Given the description of an element on the screen output the (x, y) to click on. 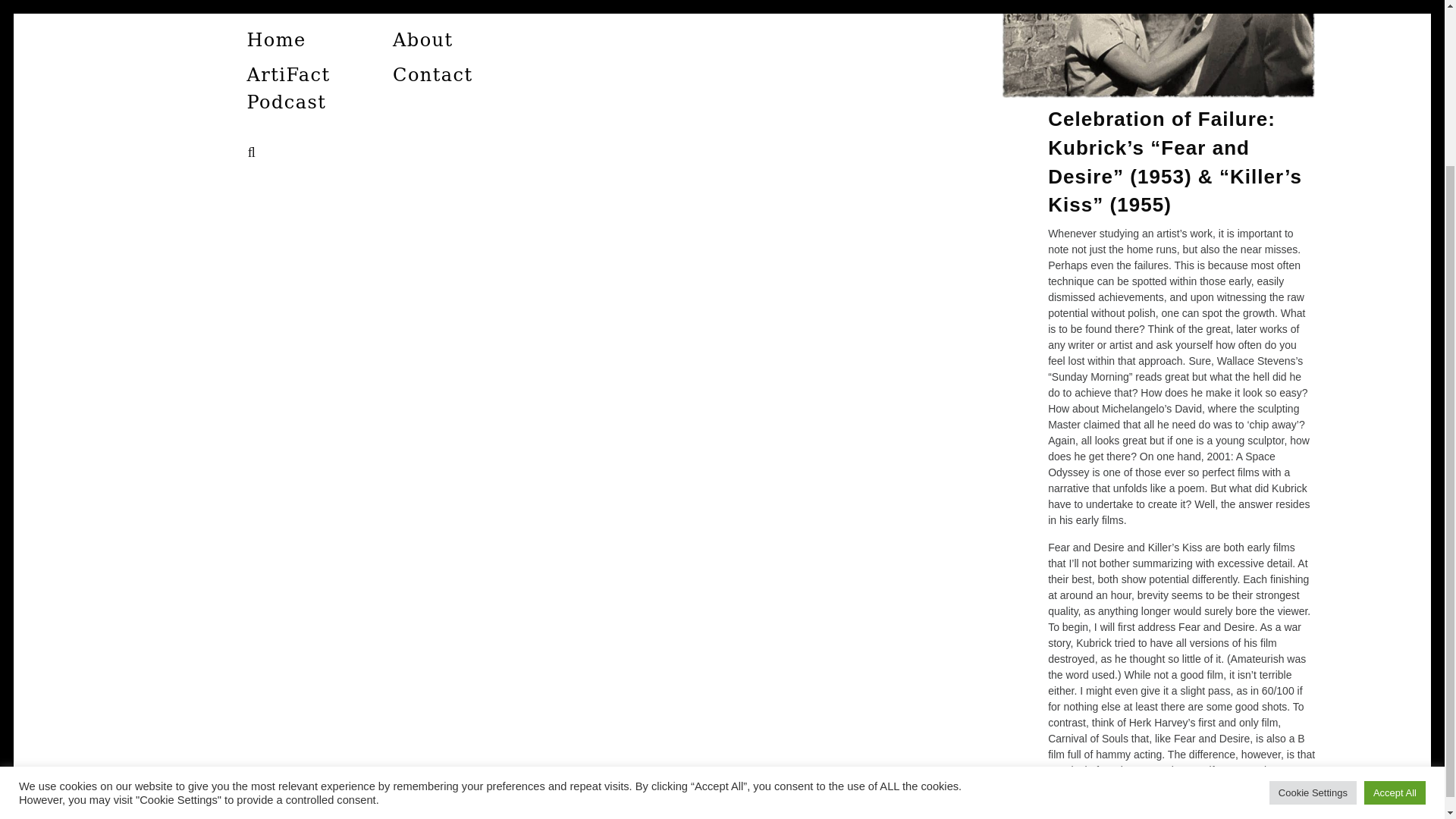
ArtiFact Podcast (285, 88)
Home (275, 39)
AUTOMACHINATION (435, 30)
SEARCH (254, 152)
Contact (432, 74)
Cookie Settings (1312, 591)
About (422, 39)
